Given the description of an element on the screen output the (x, y) to click on. 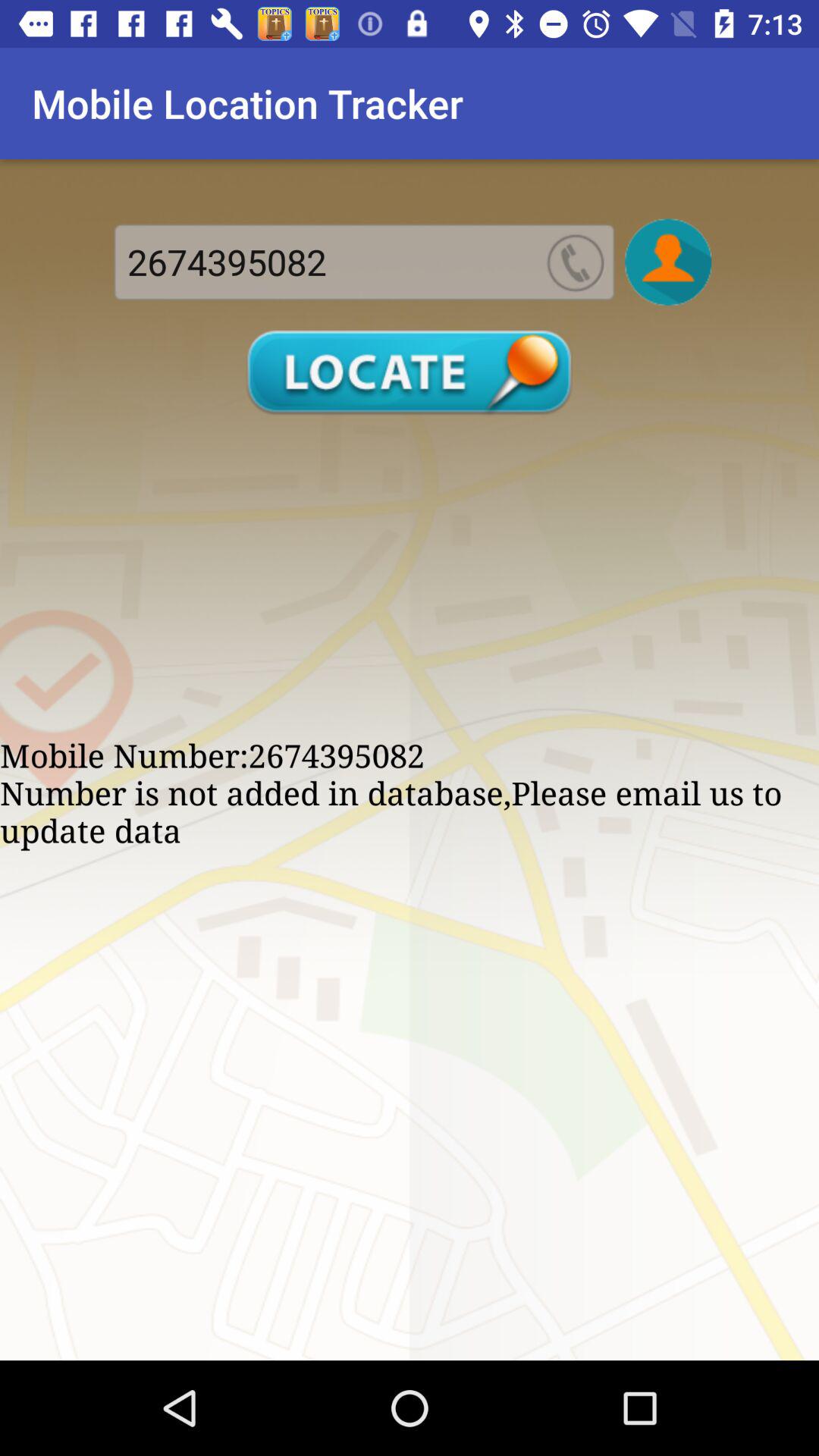
edit the article (668, 261)
